Given the description of an element on the screen output the (x, y) to click on. 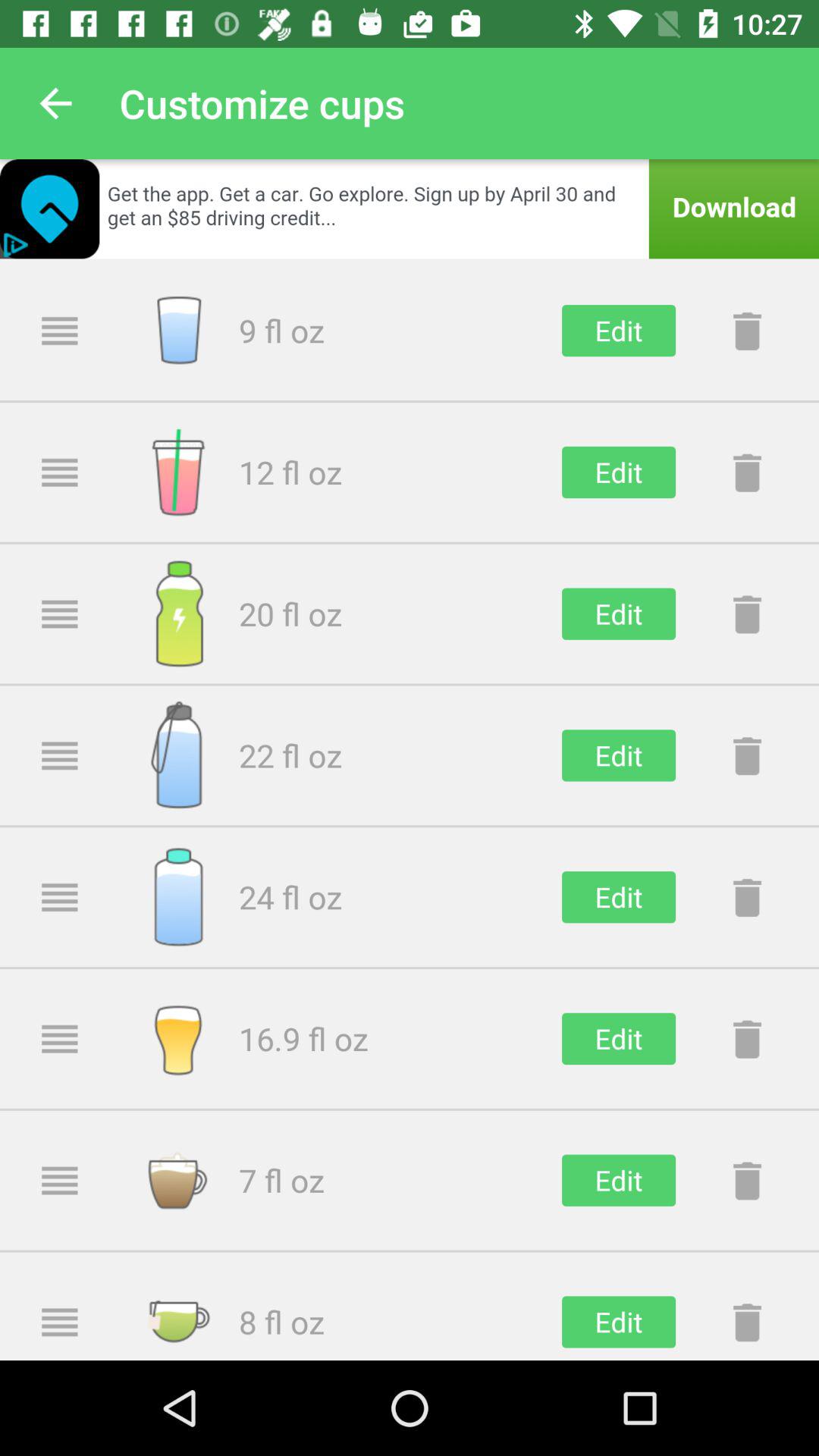
delete reminder (747, 1321)
